Given the description of an element on the screen output the (x, y) to click on. 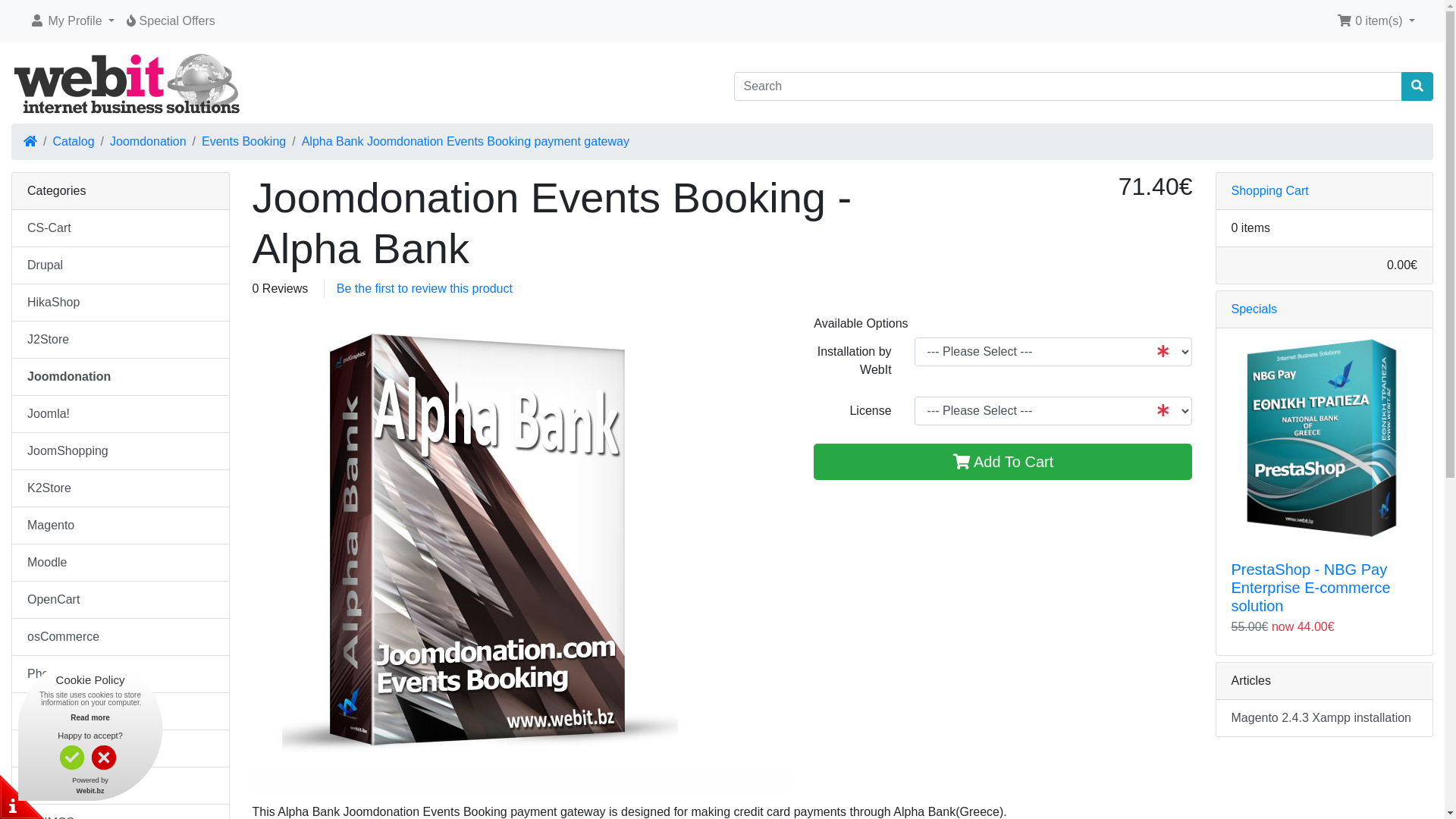
My Profile Element type: text (71, 21)
JoomShopping Element type: text (120, 451)
Webit.bz Element type: hover (130, 85)
Shopping Cart Element type: text (1269, 190)
Joomla! Element type: text (120, 414)
Be the first to review this product Element type: text (424, 288)
Moodle Element type: text (120, 562)
Special Offers Element type: text (170, 21)
Events Booking Element type: text (243, 140)
Joomdonation Element type: text (147, 140)
Specials Element type: text (1254, 308)
OpenCart Element type: text (120, 599)
Joomdonation Events Booking - Alpha Bank Element type: hover (478, 537)
Catalog Element type: text (73, 140)
Joomdonation Element type: text (120, 376)
Alpha Bank Joomdonation Events Booking payment gateway Element type: text (465, 140)
PrestaShop - NBG Pay Enterprise E-commerce solution Element type: hover (1324, 436)
Magento 2.4.3 Xampp installation Element type: text (1324, 717)
Shopping Cart Element type: hover (1344, 20)
PrestaShop Element type: text (120, 711)
Webit.bz Element type: text (90, 790)
J2Store Element type: text (120, 339)
VirtueMart Element type: text (120, 785)
0 item(s) Element type: text (1375, 21)
HikaShop Element type: text (120, 302)
K2Store Element type: text (120, 488)
Phoca Cart Element type: text (120, 674)
Drupal Element type: text (120, 265)
osCommerce Element type: text (120, 636)
PrestaShop - NBG Pay Enterprise E-commerce solution Element type: text (1310, 587)
CS-Cart Element type: text (120, 228)
TomatoCart Element type: text (120, 748)
Special Offers Element type: hover (130, 20)
Magento Element type: text (120, 525)
My Profile Element type: hover (36, 20)
Home Element type: text (30, 140)
Add To Cart Element type: text (1002, 461)
Read more Element type: text (89, 716)
